Given the description of an element on the screen output the (x, y) to click on. 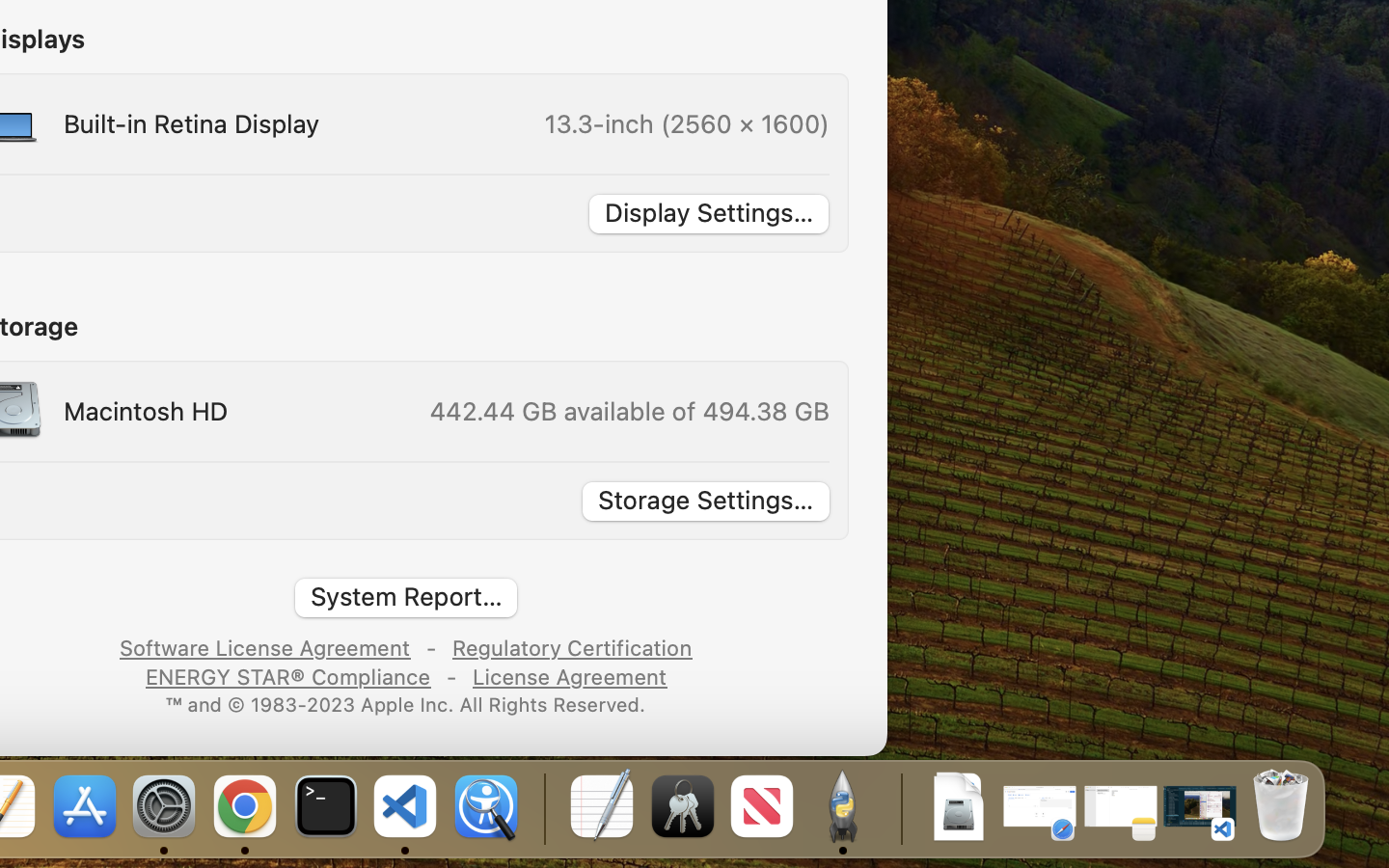
™ and © 1983-2023 Apple Inc. All Rights Reserved. Element type: AXStaticText (405, 702)
Software License Agreement Element type: AXStaticText (264, 645)
Regulatory Certification Element type: AXStaticText (570, 645)
